Given the description of an element on the screen output the (x, y) to click on. 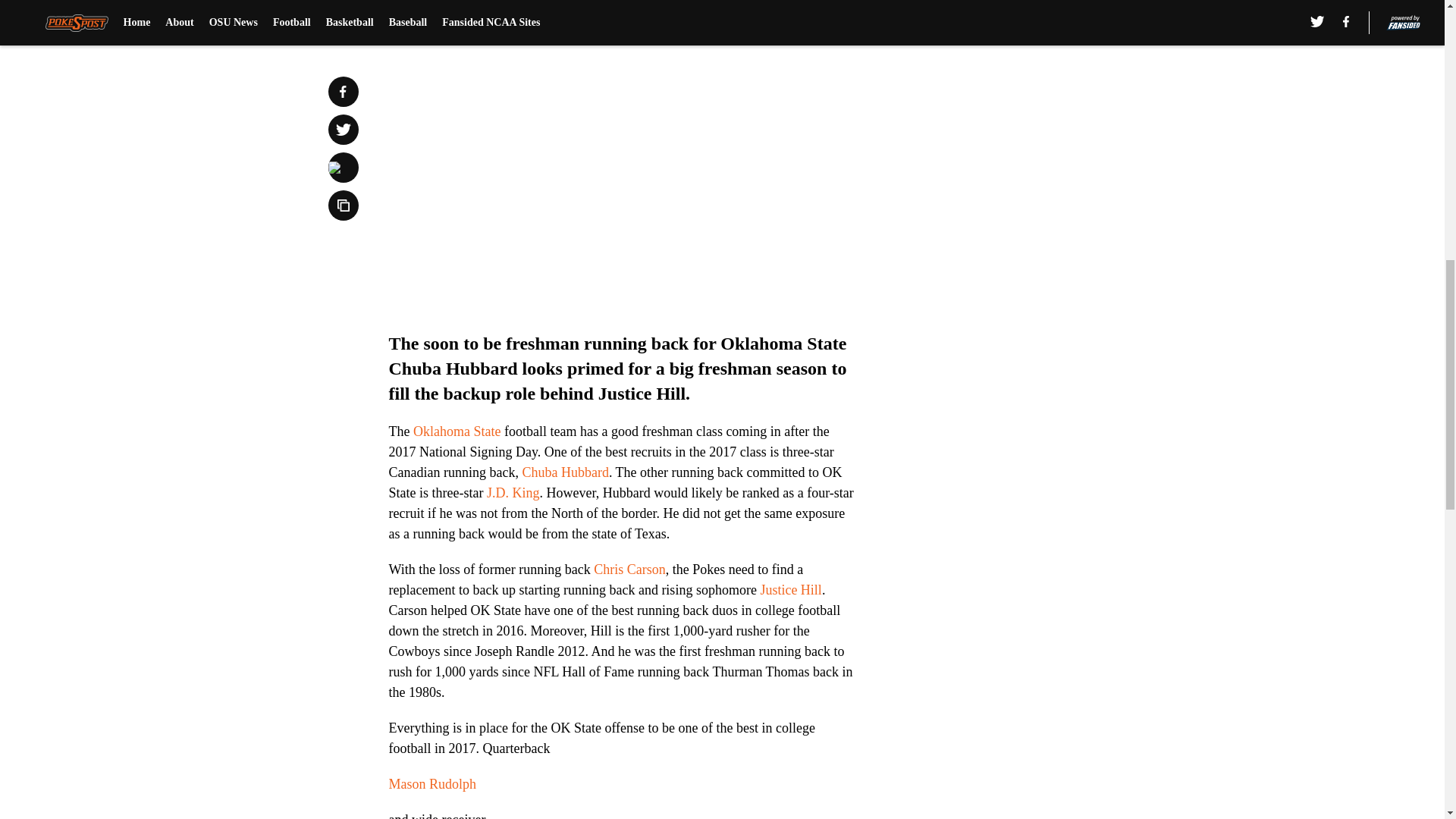
Mason Rudolph (432, 783)
Chuba Hubbard (564, 472)
J.D. King (513, 492)
Justice Hill (791, 589)
Oklahoma State (456, 431)
Chris Carson (629, 569)
